Given the description of an element on the screen output the (x, y) to click on. 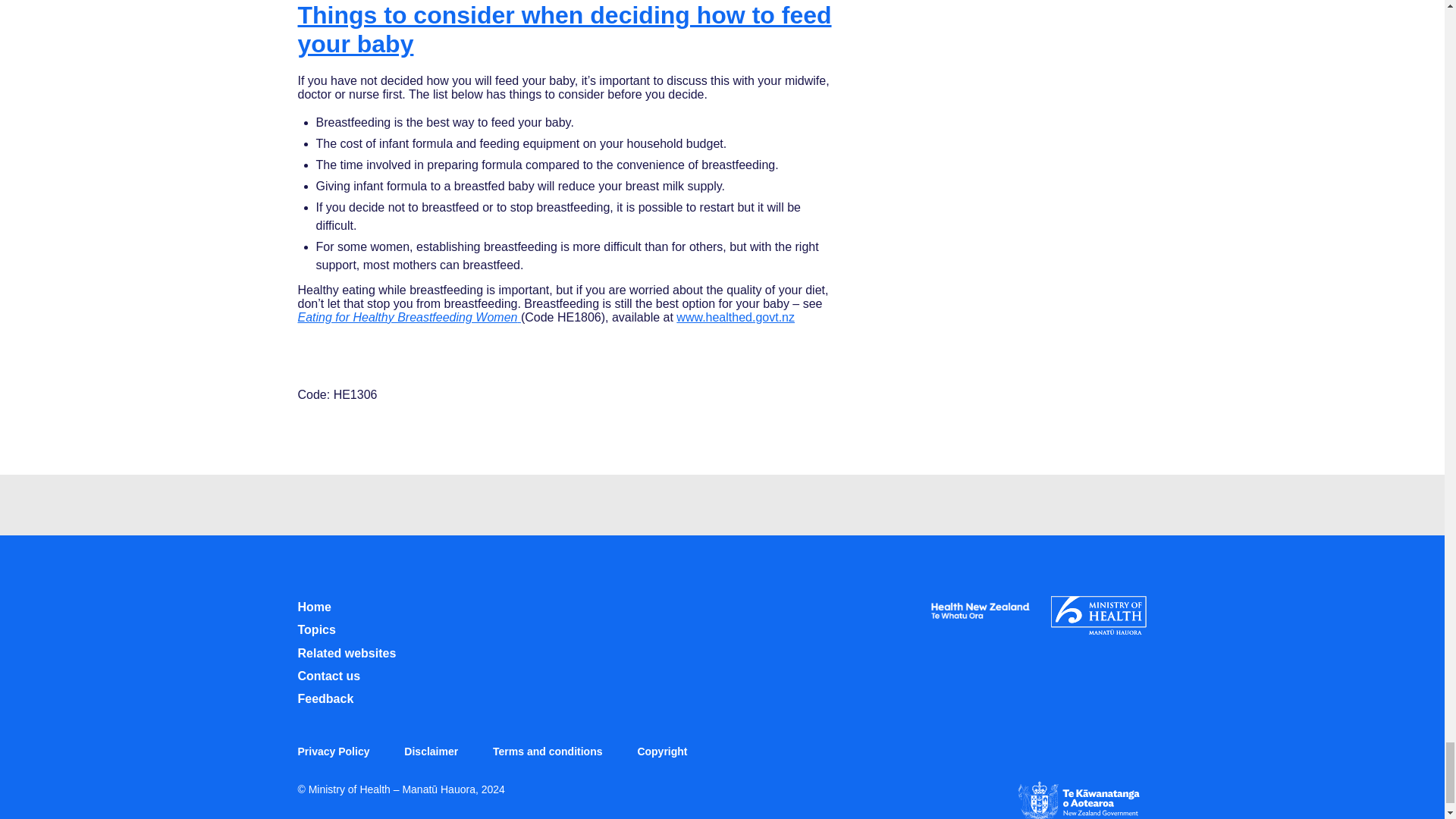
Eating for Healthy Breastfeeding Women (408, 317)
